Given the description of an element on the screen output the (x, y) to click on. 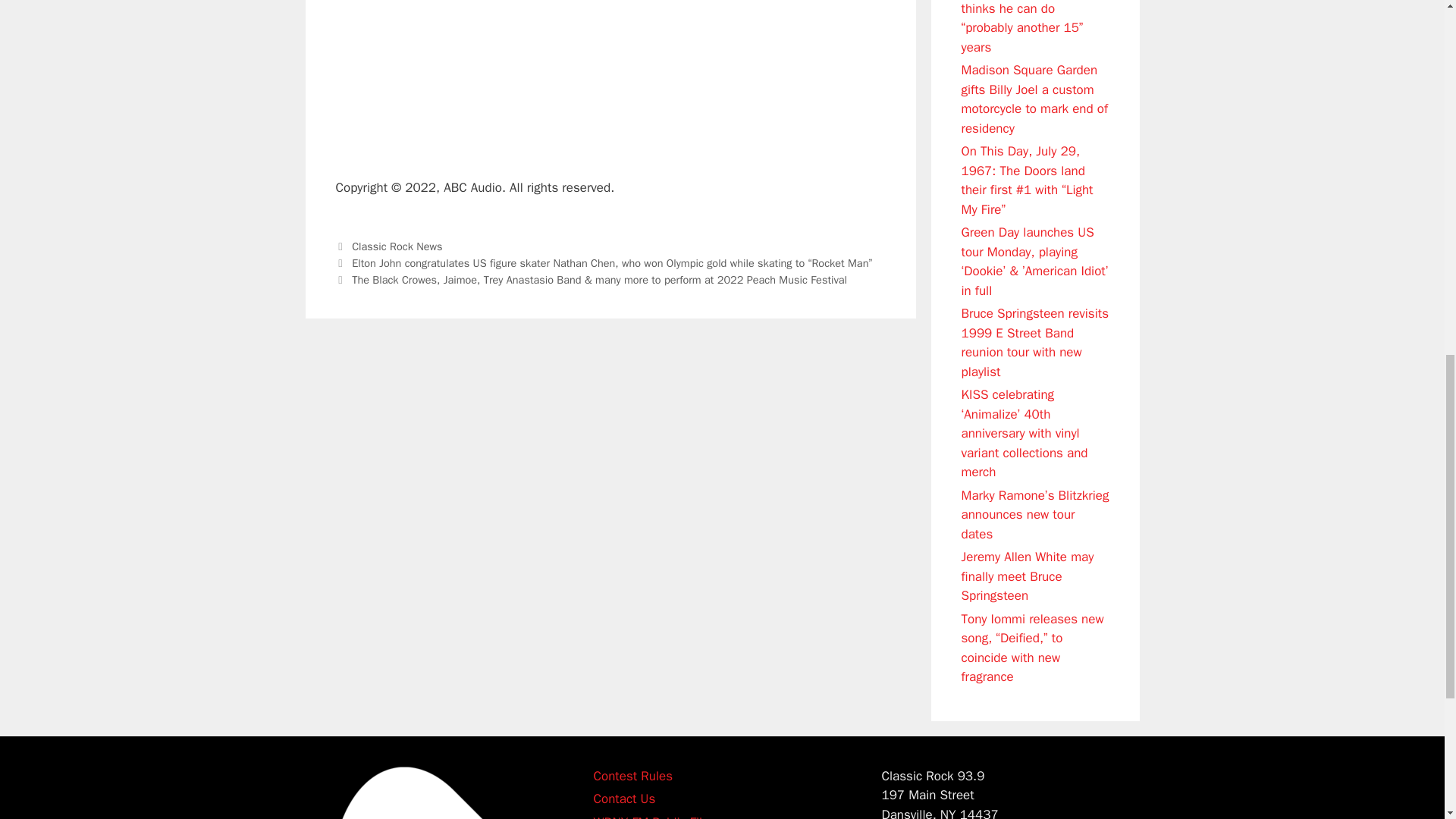
Contest Rules (632, 774)
Jeremy Allen White may finally meet Bruce Springsteen (1027, 575)
WDNY-FM Public File (650, 816)
Classic Rock News (397, 246)
YouTube video player (577, 76)
Contact Us (623, 798)
